Given the description of an element on the screen output the (x, y) to click on. 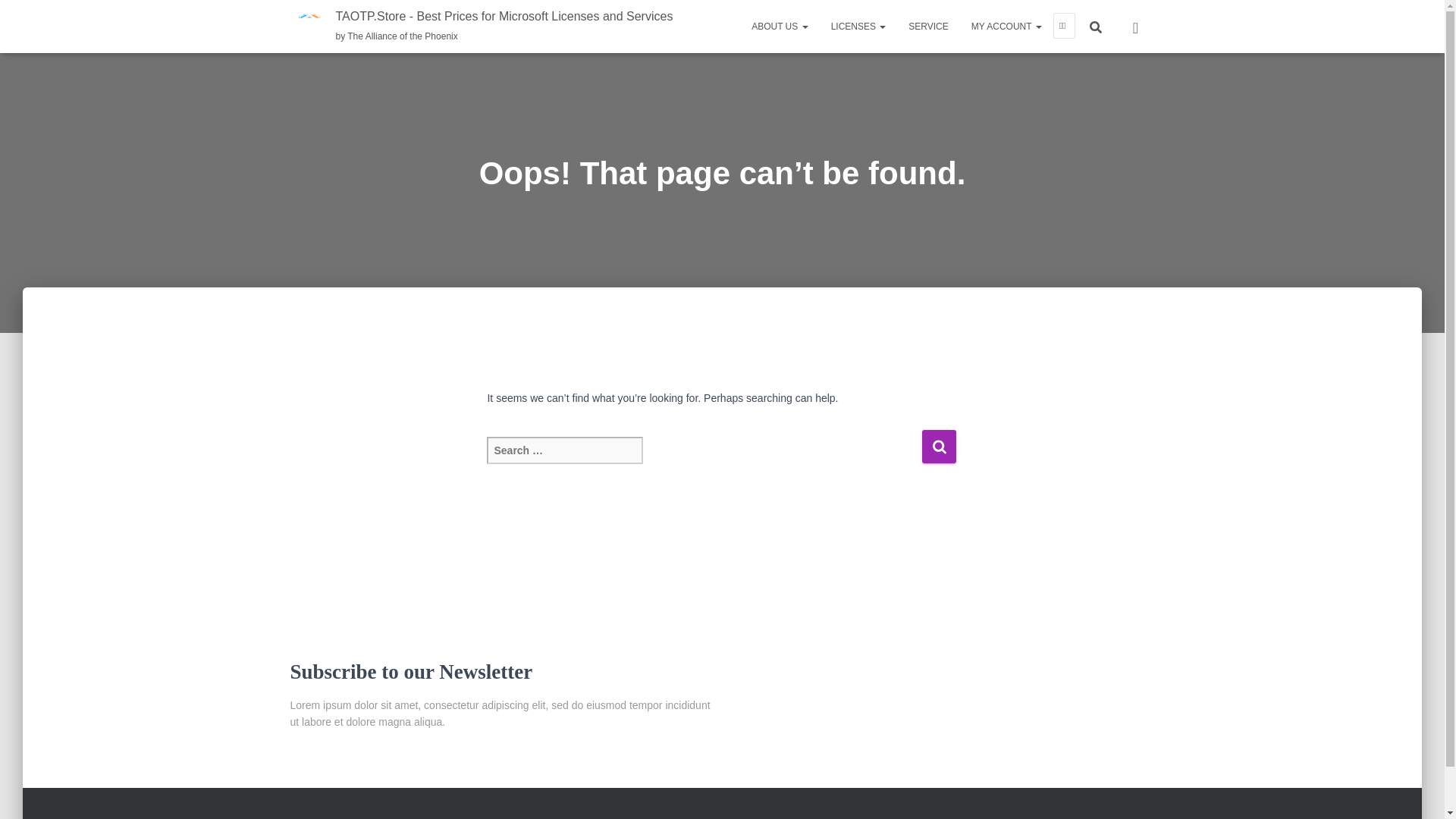
Search (938, 445)
SERVICE (927, 26)
My account (1005, 26)
TERMS AND CONDITIONS (457, 814)
CONTACT (758, 814)
PROOF OF MICROSOFT PARTNERSHIP (625, 814)
Search (938, 445)
Search (16, 16)
About Us (778, 26)
LICENSES (858, 26)
Licenses (858, 26)
PRIVACY POLICY (338, 814)
ABOUT US (778, 26)
Service (927, 26)
